Given the description of an element on the screen output the (x, y) to click on. 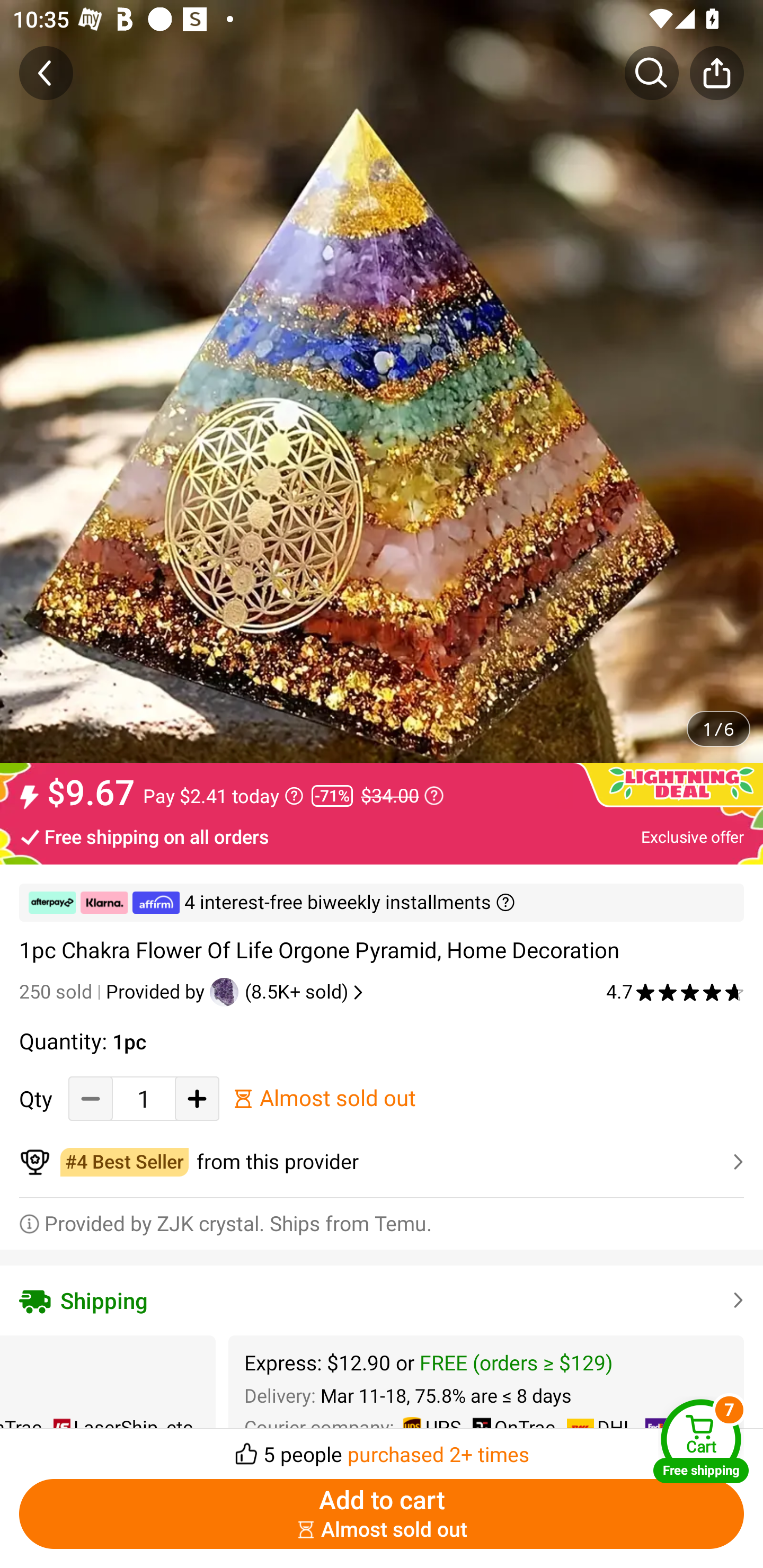
Back (46, 72)
Share (716, 72)
Pay $2.41 today   (223, 795)
Free shipping on all orders Exclusive offer (381, 836)
￼ ￼ ￼ 4 interest-free biweekly installments ￼ (381, 902)
250 sold Provided by  (114, 992)
4.7 (674, 992)
Decrease Quantity Button (90, 1098)
1 (143, 1098)
Add Quantity button (196, 1098)
￼￼from this provider (381, 1162)
Shipping (381, 1300)
Cart Free shipping Cart (701, 1440)
￼￼5 people purchased 2+ times (381, 1448)
Add to cart ￼￼Almost sold out (381, 1513)
